Given the description of an element on the screen output the (x, y) to click on. 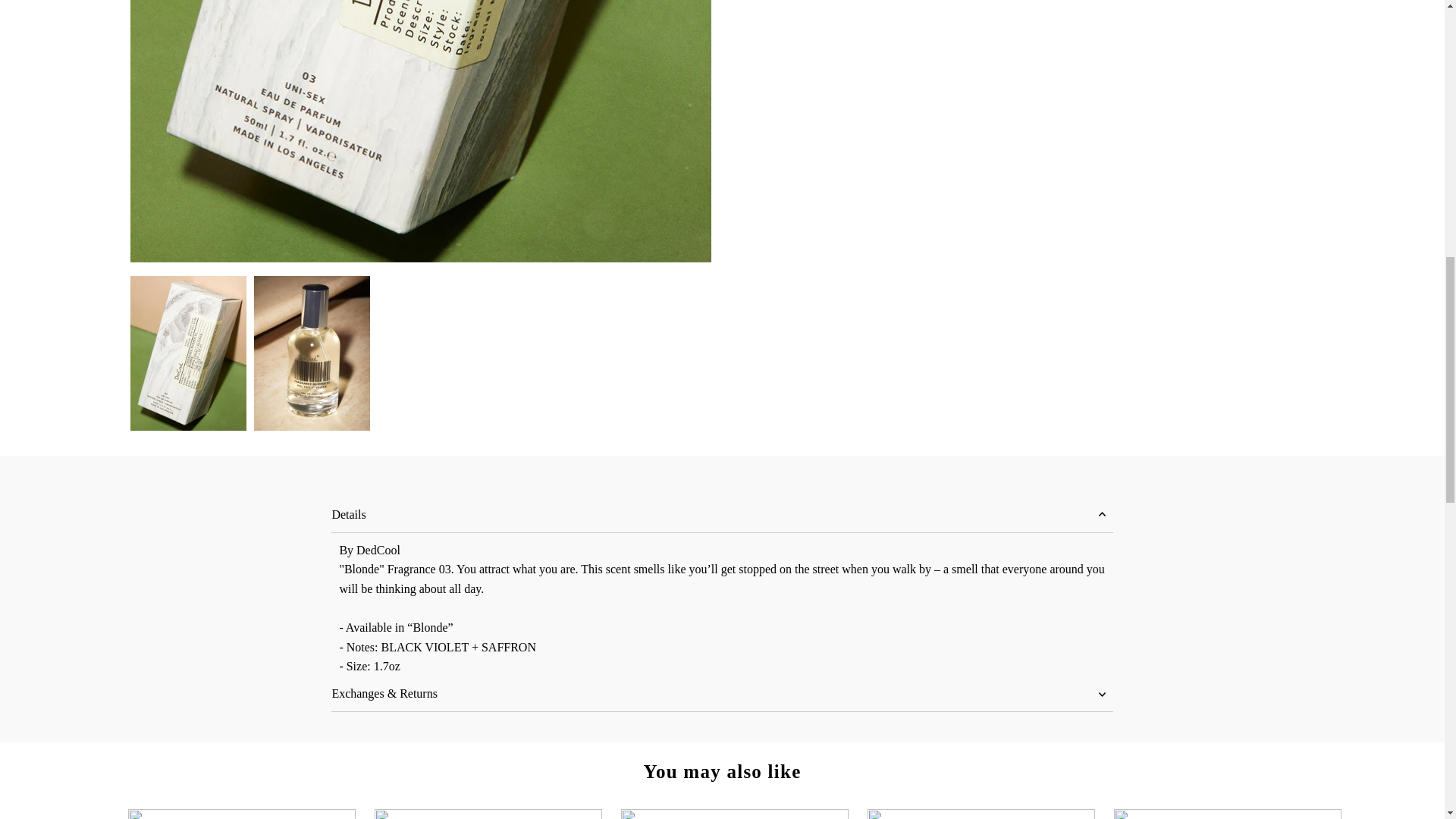
Marcelle Low Slung Easy Cargo Corduroy In Pashmina (734, 814)
Cashmere Crew Neck Sweater in Black (241, 814)
Aiden Denim High Low Shirt in Shout (980, 814)
Anisa Camisole Top in Black (488, 814)
